Given the description of an element on the screen output the (x, y) to click on. 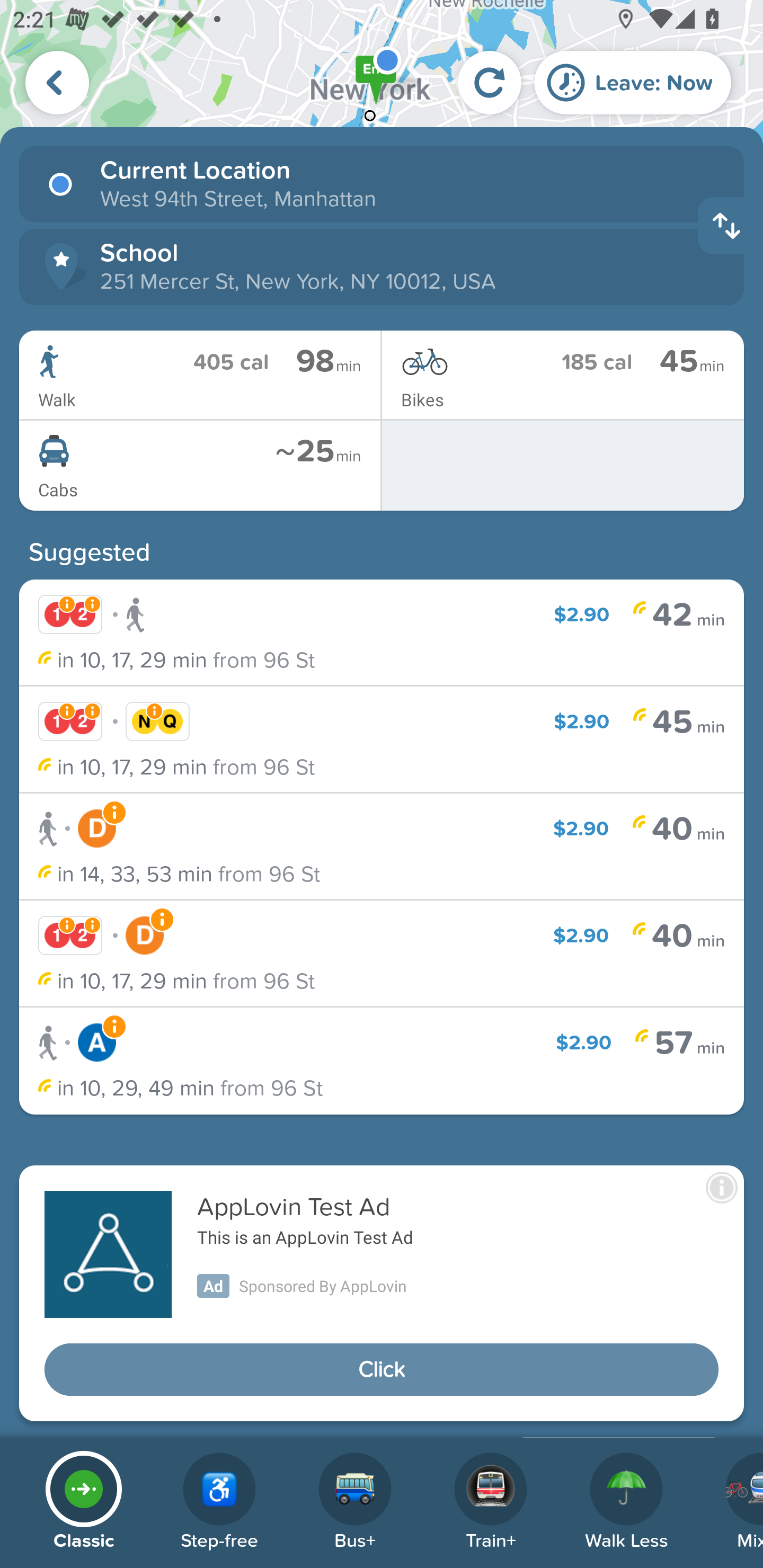
Leave: Now (632, 81)
